Given the description of an element on the screen output the (x, y) to click on. 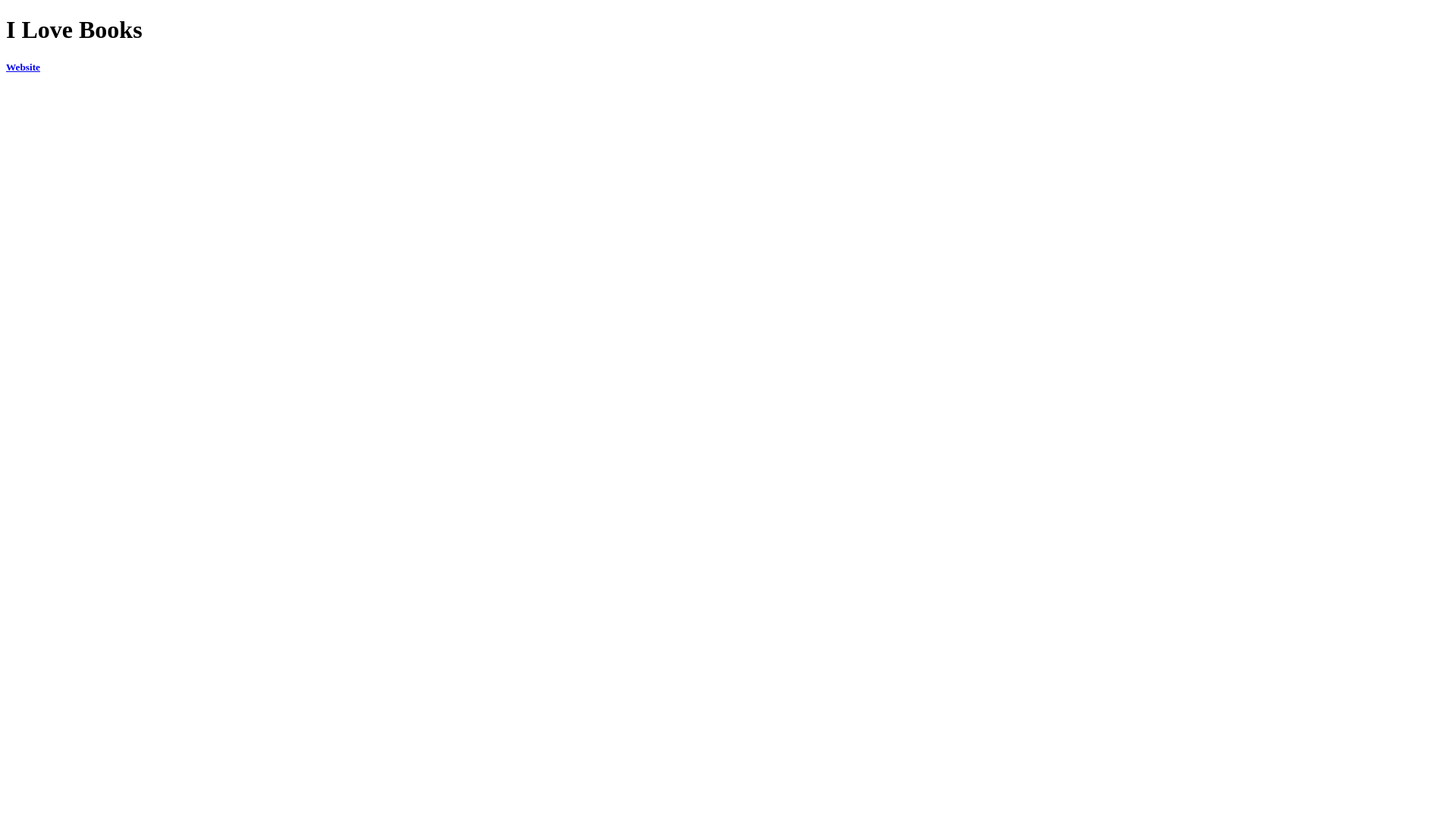
Website Element type: text (23, 66)
